Given the description of an element on the screen output the (x, y) to click on. 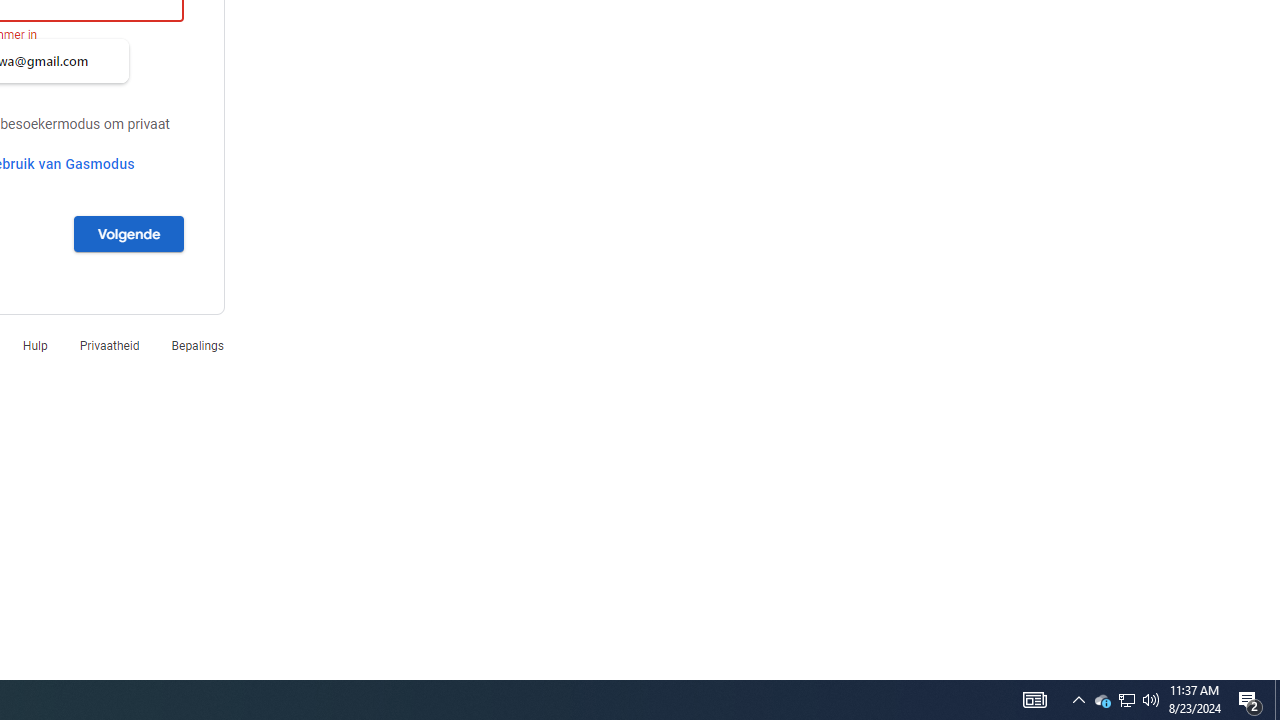
Bepalings (197, 345)
Privaatheid (109, 345)
Hulp (35, 345)
Volgende (128, 233)
